Given the description of an element on the screen output the (x, y) to click on. 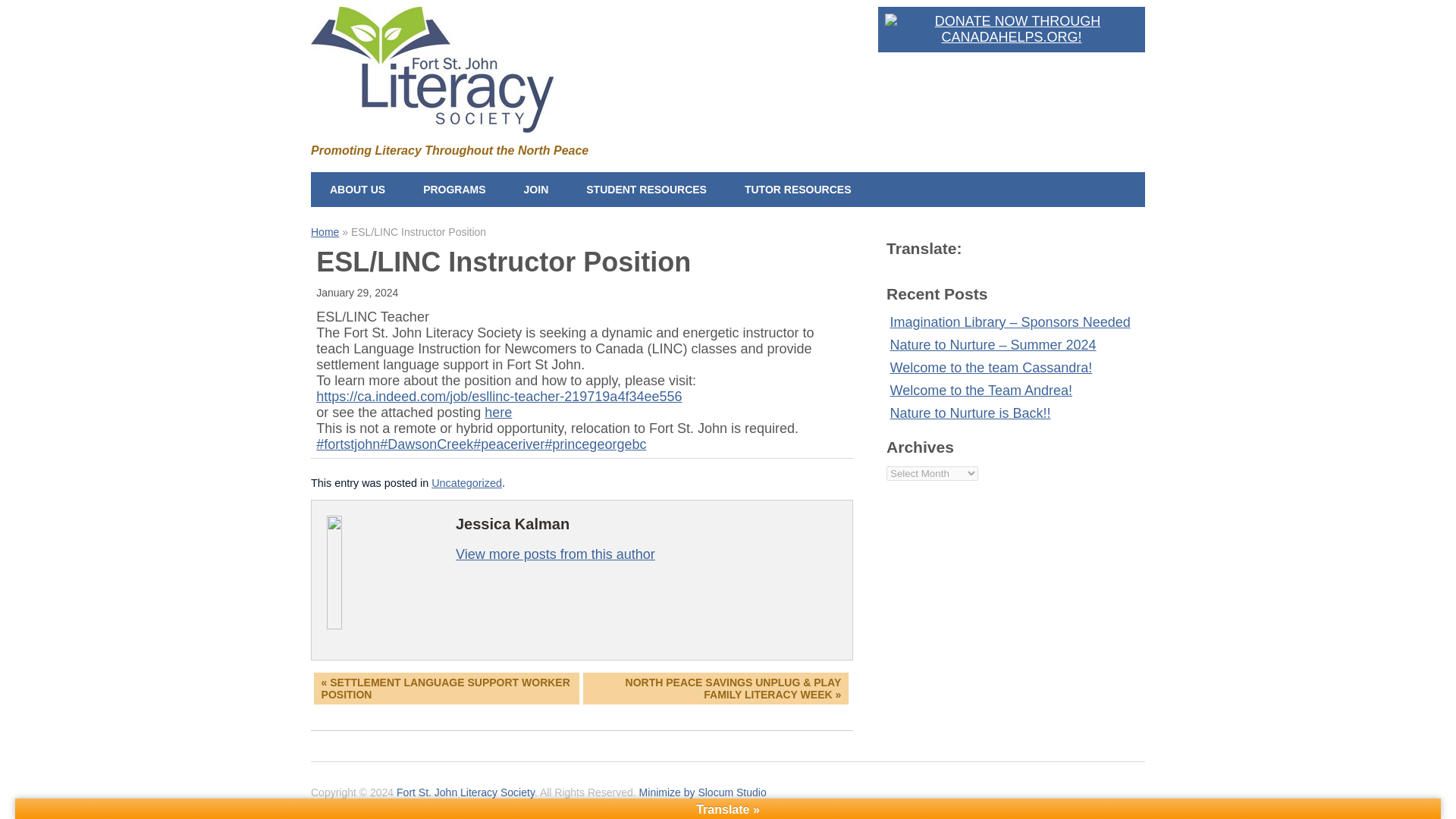
JOIN (536, 188)
Uncategorized (466, 482)
here (498, 412)
Home (325, 232)
Fort St. John Literacy Society (432, 121)
PROGRAMS (453, 188)
View more posts from this author (555, 554)
STUDENT RESOURCES (646, 188)
ABOUT US (357, 188)
